Given the description of an element on the screen output the (x, y) to click on. 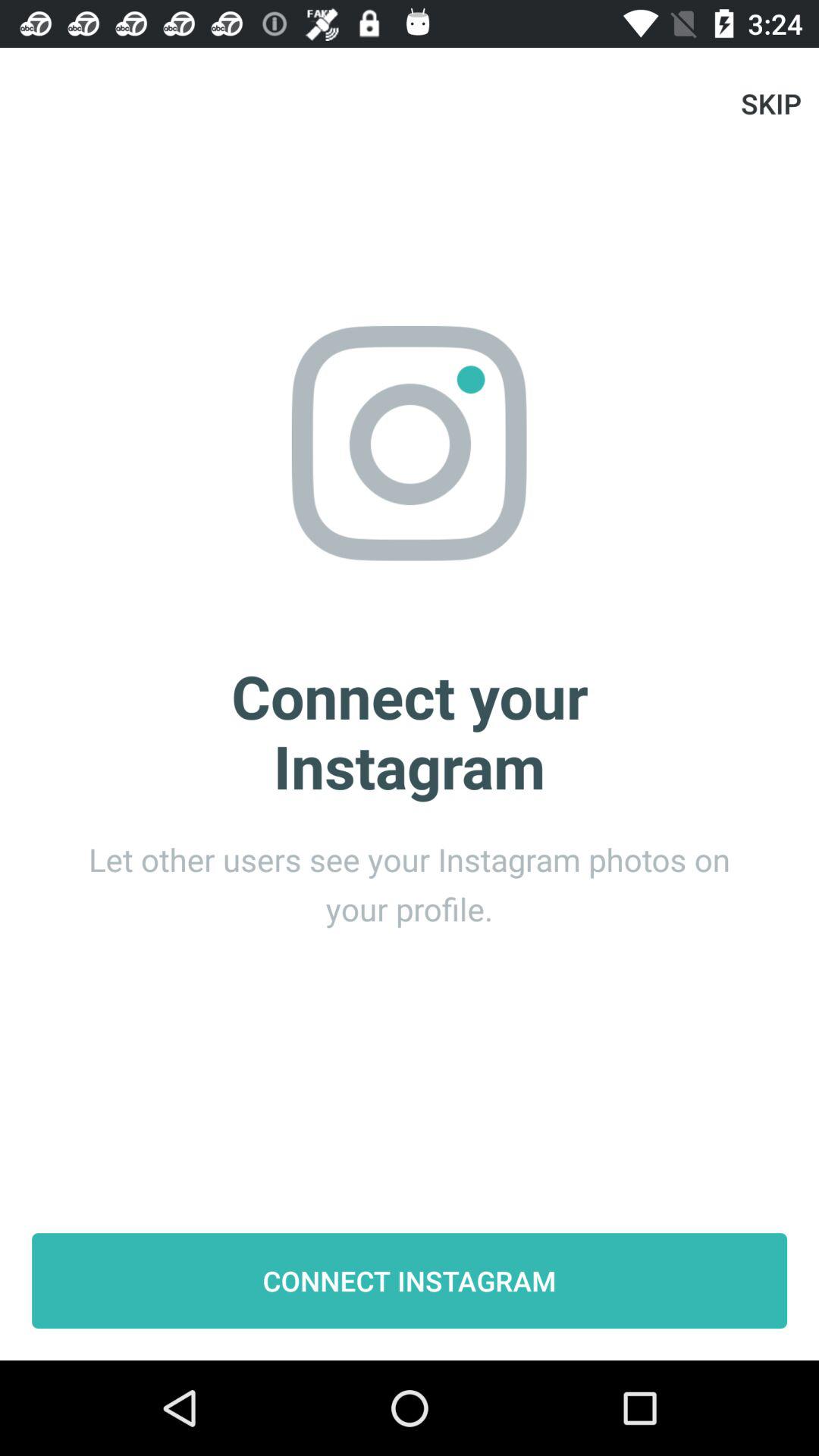
scroll to skip item (771, 103)
